Given the description of an element on the screen output the (x, y) to click on. 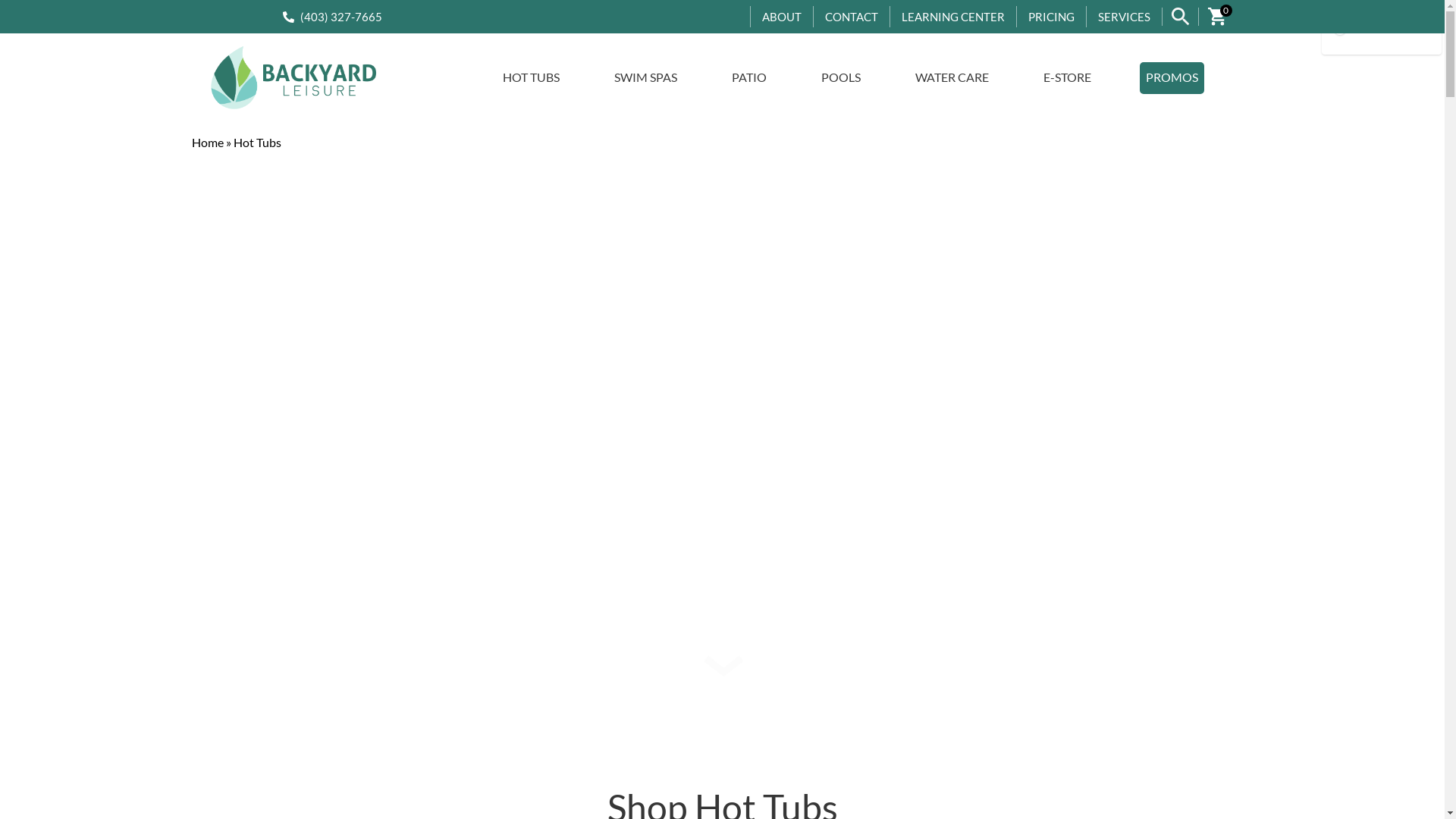
PATIO Element type: text (748, 78)
E-STORE Element type: text (1067, 78)
Home Element type: text (206, 141)
SWIM SPAS Element type: text (645, 78)
0 Element type: text (1217, 16)
WATER CARE Element type: text (951, 78)
PRICING Element type: text (1051, 16)
CONTACT Element type: text (851, 16)
POOLS Element type: text (840, 78)
ABOUT Element type: text (781, 16)
PROMOS Element type: text (1171, 78)
(403) 327-7665 Element type: text (338, 16)
SERVICES Element type: text (1124, 16)
LEARNING CENTER Element type: text (952, 16)
HOT TUBS Element type: text (529, 78)
